Given the description of an element on the screen output the (x, y) to click on. 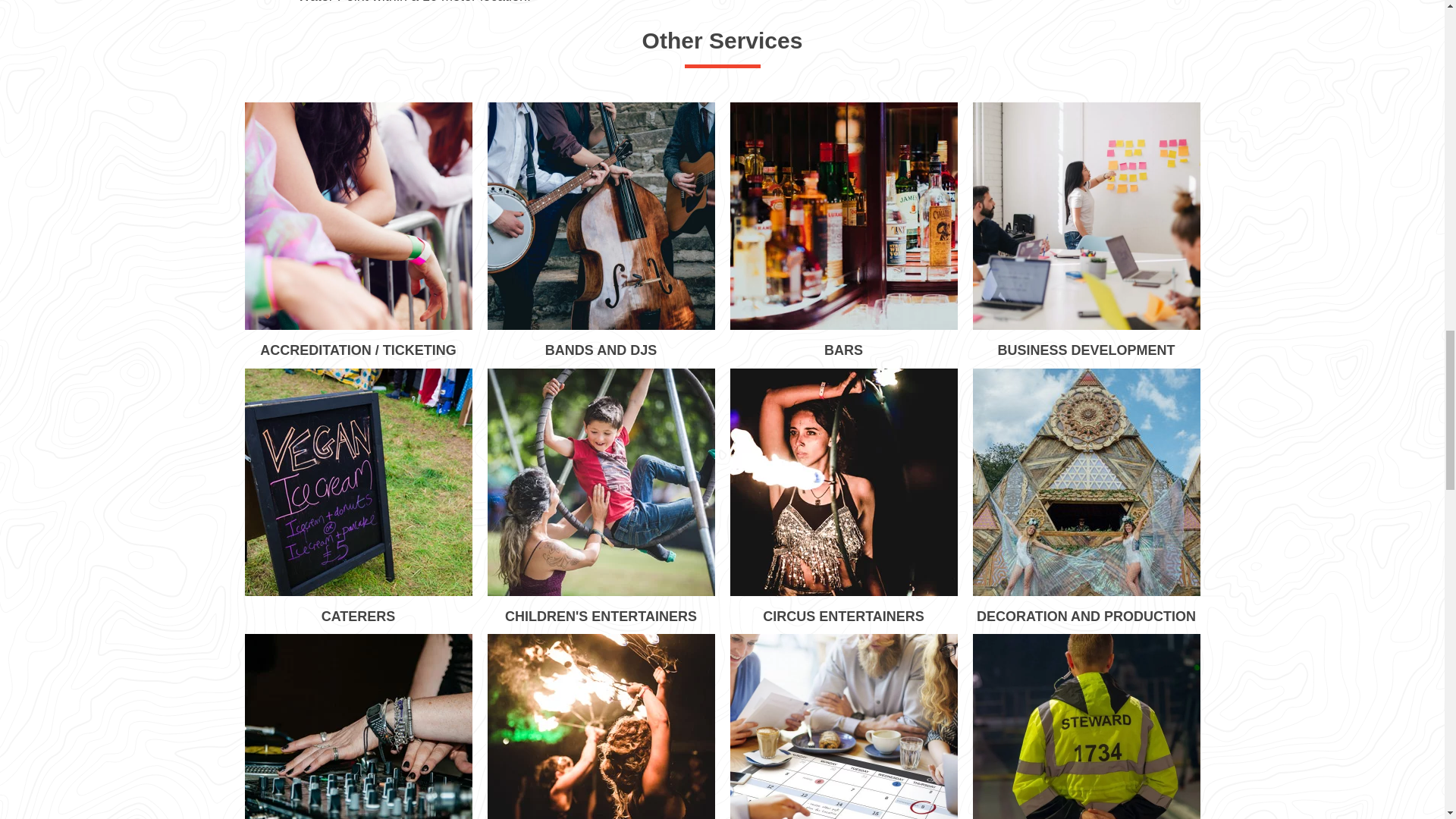
EVENT PLANNERS (842, 726)
ENTERTAINERS (600, 726)
DJ AND TECH EQUIPMENT (357, 726)
